Given the description of an element on the screen output the (x, y) to click on. 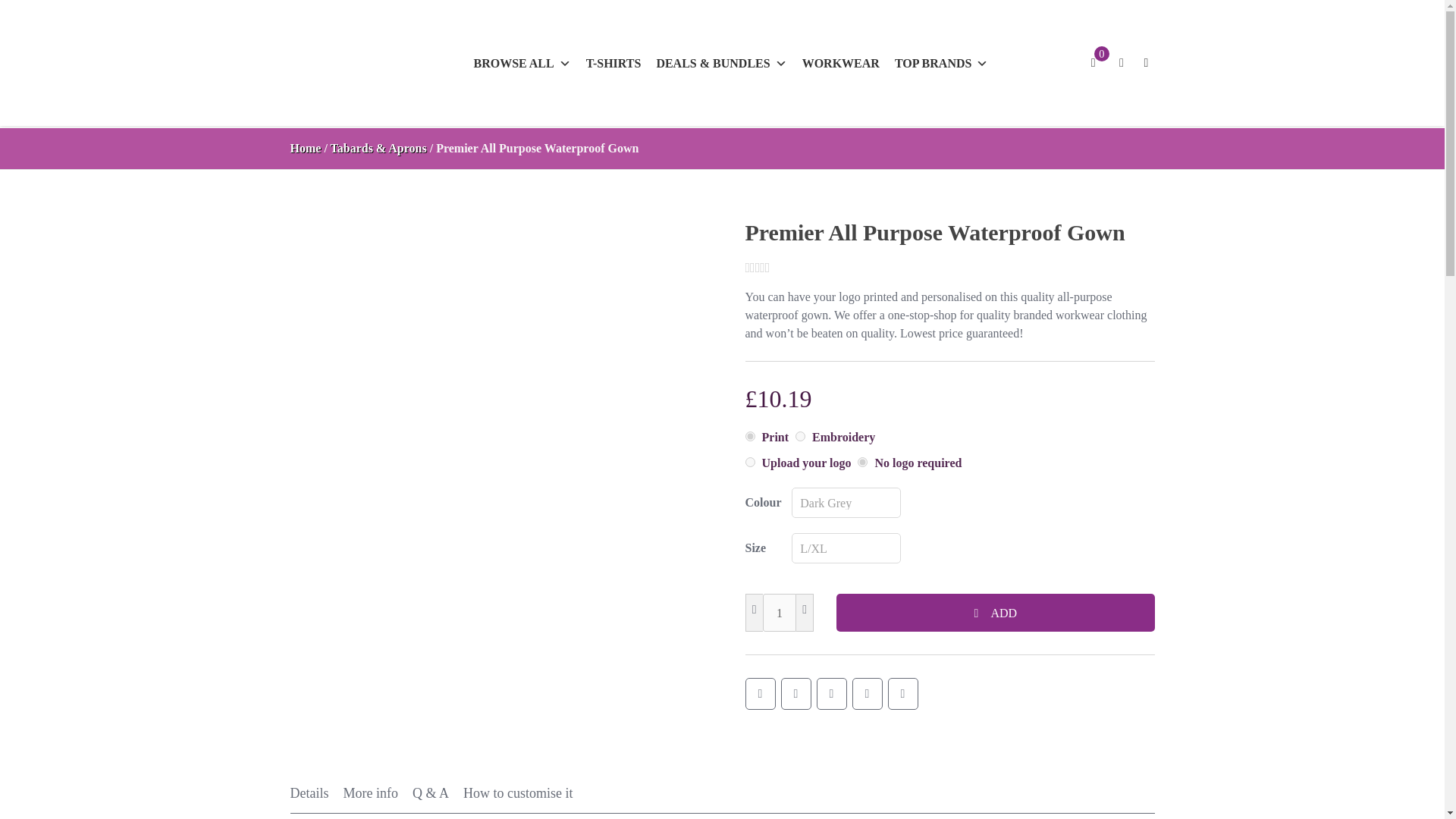
Your one-stop-shop for quality branded workwear clothing (338, 103)
WORKWEAR (840, 63)
Share on Facebook (759, 694)
BROWSE ALL (521, 63)
T-SHIRTS (613, 63)
Pin on Pinterest (830, 694)
Share on LinkedIn (901, 694)
View cart (1092, 63)
Share on Twitter (795, 694)
print (749, 436)
embroidery (799, 436)
